Given the description of an element on the screen output the (x, y) to click on. 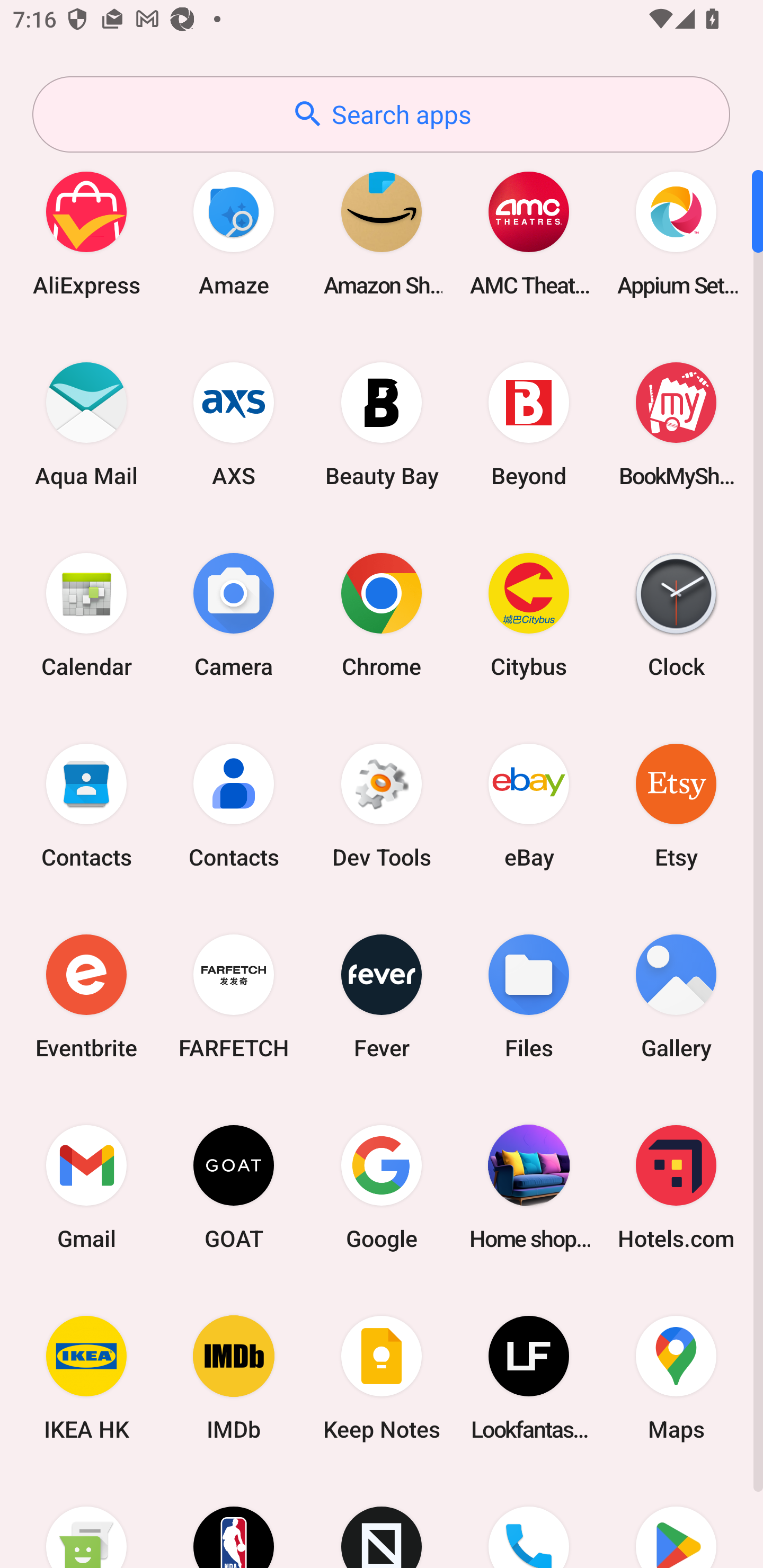
  Search apps (381, 114)
AliExpress (86, 233)
Amaze (233, 233)
Amazon Shopping (381, 233)
AMC Theatres (528, 233)
Appium Settings (676, 233)
Aqua Mail (86, 424)
AXS (233, 424)
Beauty Bay (381, 424)
Beyond (528, 424)
BookMyShow (676, 424)
Calendar (86, 614)
Camera (233, 614)
Chrome (381, 614)
Citybus (528, 614)
Clock (676, 614)
Contacts (86, 805)
Contacts (233, 805)
Dev Tools (381, 805)
eBay (528, 805)
Etsy (676, 805)
Eventbrite (86, 996)
FARFETCH (233, 996)
Fever (381, 996)
Files (528, 996)
Gallery (676, 996)
Gmail (86, 1186)
GOAT (233, 1186)
Google (381, 1186)
Home shopping (528, 1186)
Hotels.com (676, 1186)
IKEA HK (86, 1377)
IMDb (233, 1377)
Keep Notes (381, 1377)
Lookfantastic (528, 1377)
Maps (676, 1377)
Messaging (86, 1520)
NBA (233, 1520)
Novelship (381, 1520)
Phone (528, 1520)
Play Store (676, 1520)
